Given the description of an element on the screen output the (x, y) to click on. 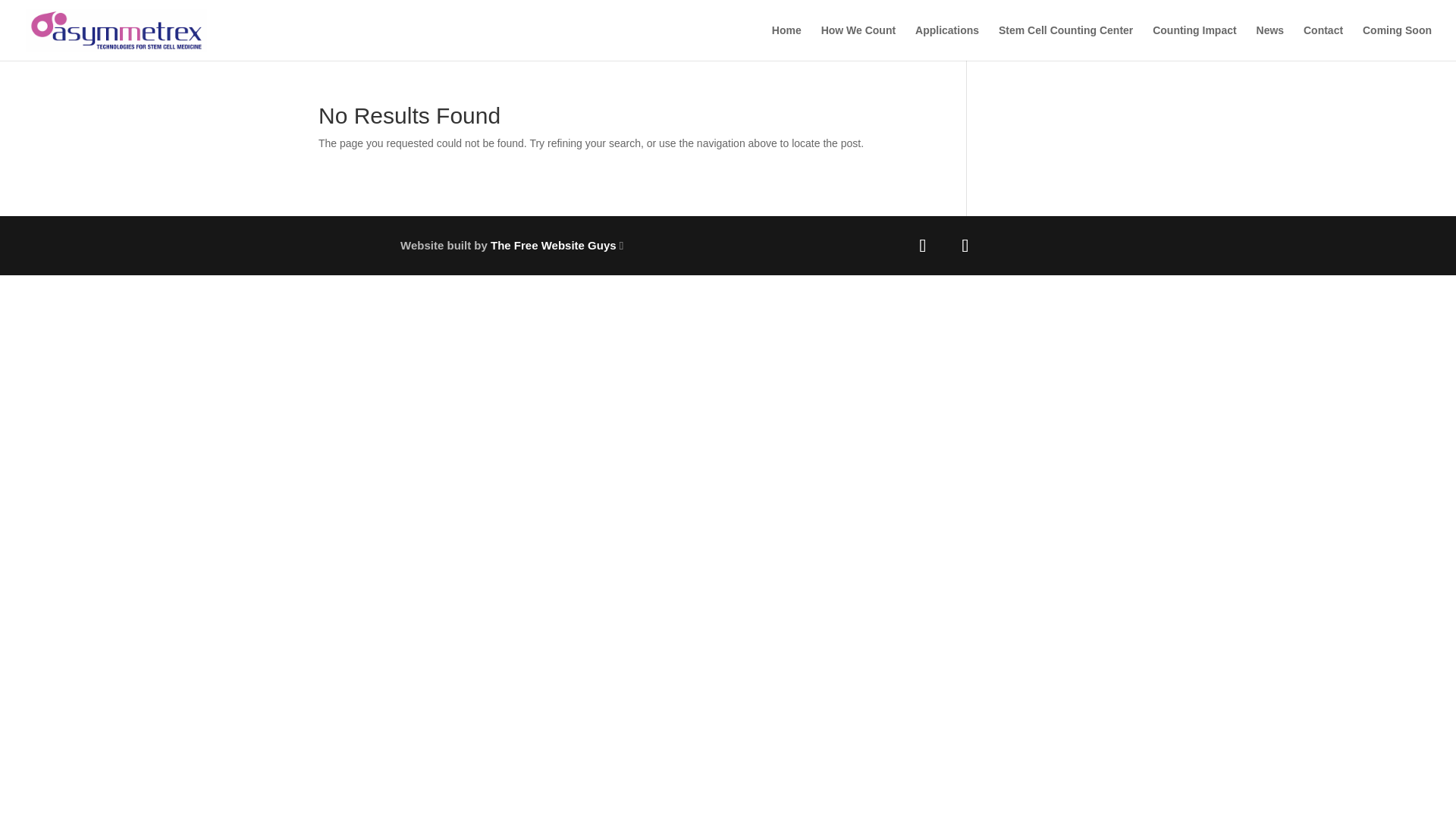
Follow on Instagram (965, 245)
Stem Cell Counting Center (1065, 42)
Follow on Facebook (922, 245)
Contact (1322, 42)
How We Count (858, 42)
Coming Soon (1396, 42)
Counting Impact (1194, 42)
The Free Website Guys (552, 245)
Applications (946, 42)
